Given the description of an element on the screen output the (x, y) to click on. 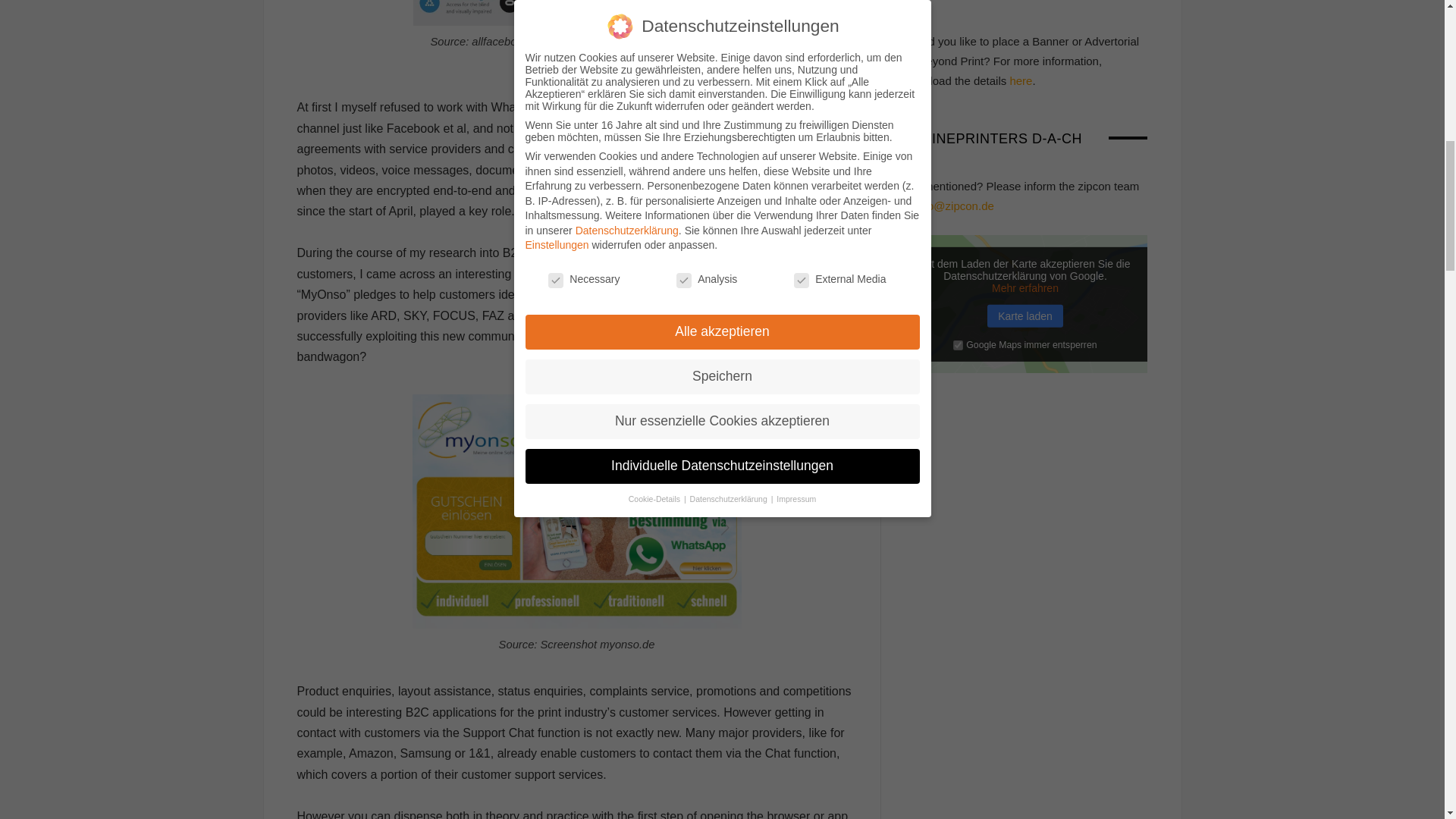
1 (957, 345)
WhatsApp template (756, 294)
here (1020, 80)
